Given the description of an element on the screen output the (x, y) to click on. 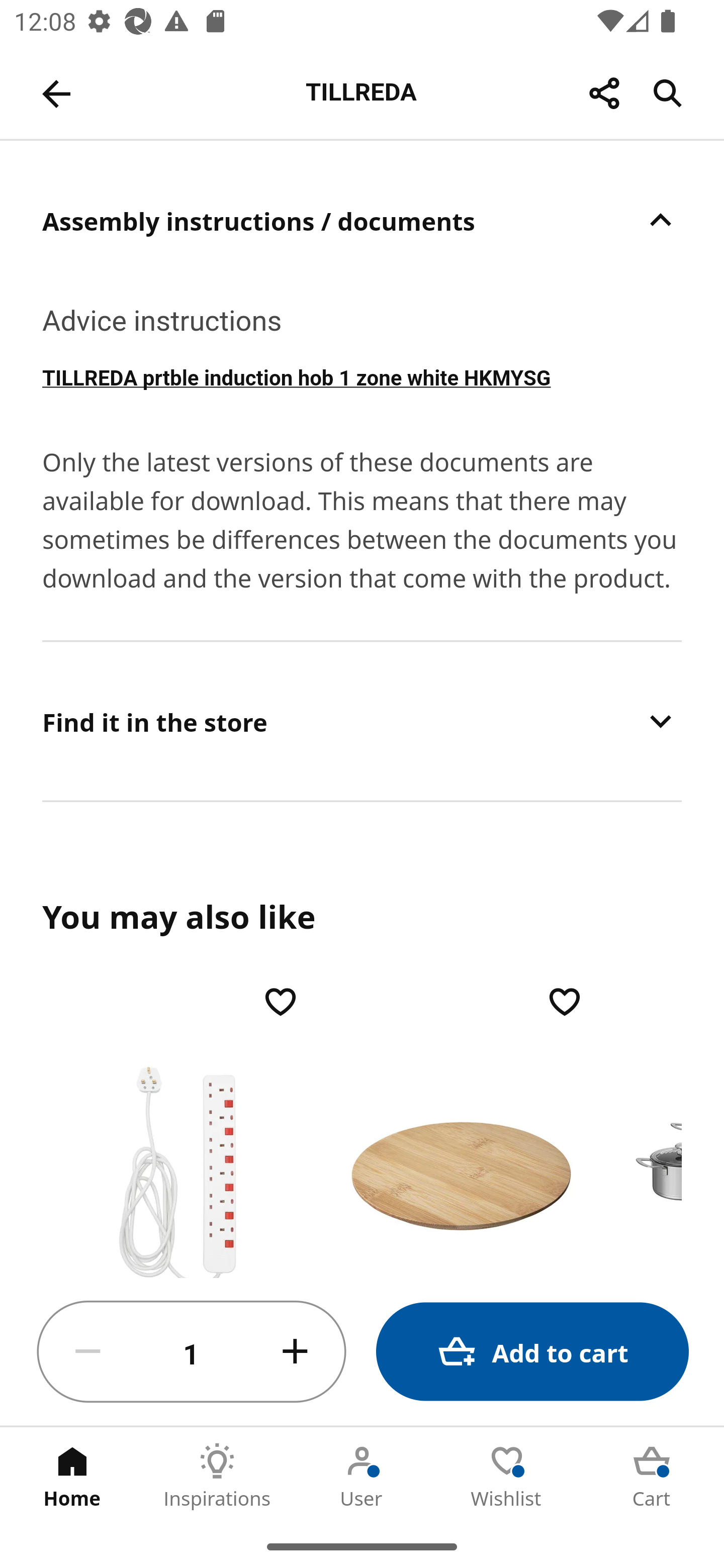
Assembly instructions / documents (361, 219)
TILLREDA prtble induction hob 1 zone white HKMYSG (361, 376)
Find it in the store (361, 721)
Add to cart (531, 1352)
1 (191, 1352)
Home
Tab 1 of 5 (72, 1476)
Inspirations
Tab 2 of 5 (216, 1476)
User
Tab 3 of 5 (361, 1476)
Wishlist
Tab 4 of 5 (506, 1476)
Cart
Tab 5 of 5 (651, 1476)
